Given the description of an element on the screen output the (x, y) to click on. 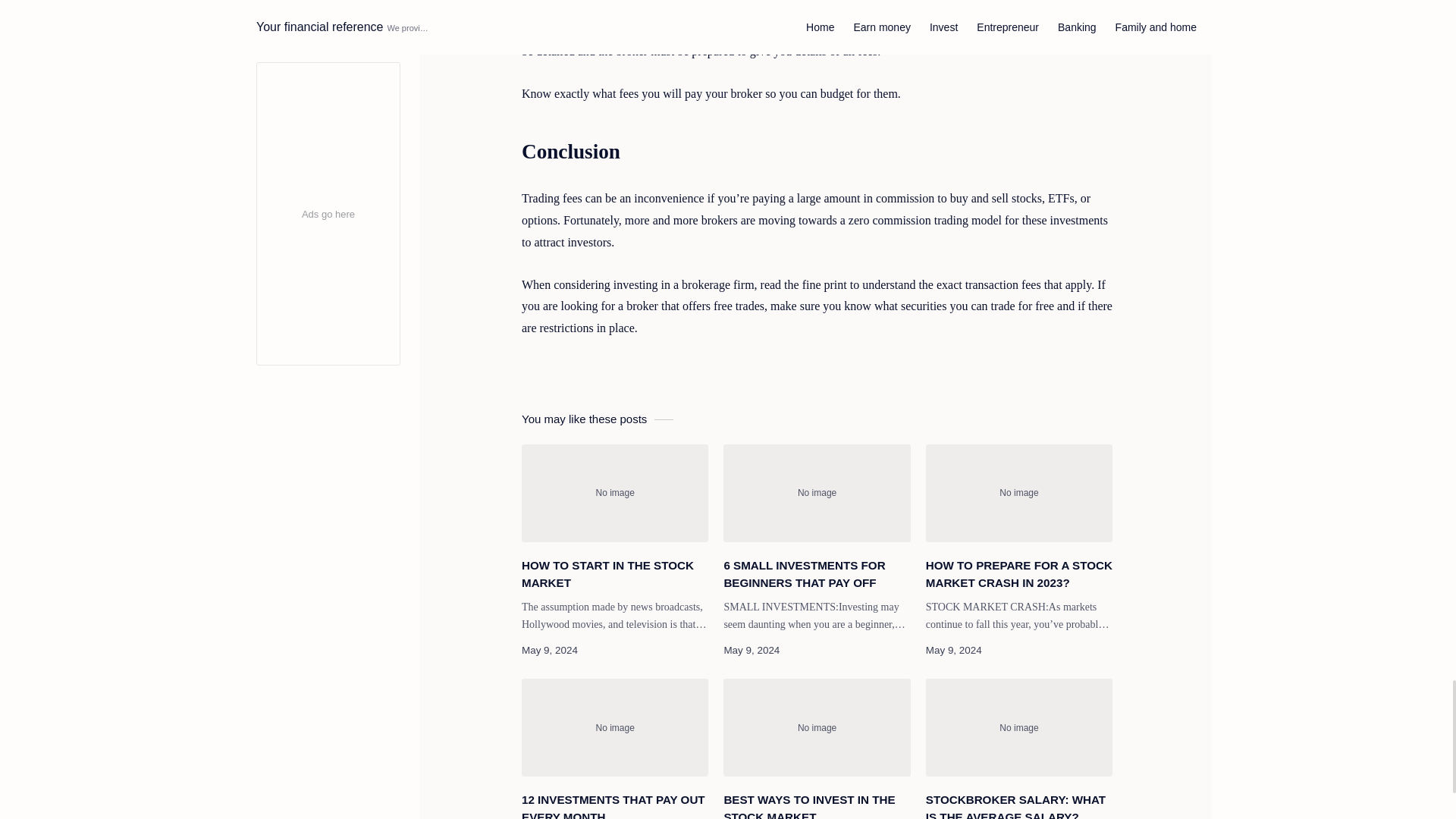
HOW TO PREPARE FOR A STOCK MARKET CRASH IN 2023? (1019, 574)
STOCKBROKER SALARY: WHAT IS THE AVERAGE SALARY? (1019, 727)
12 INVESTMENTS THAT PAY OUT EVERY MONTH (614, 727)
HOW TO START IN THE STOCK MARKET (614, 574)
6 SMALL INVESTMENTS FOR BEGINNERS THAT PAY OFF (816, 493)
HOW TO PREPARE FOR A STOCK MARKET CRASH IN 2023? (1019, 493)
BEST WAYS TO INVEST IN THE STOCK MARKET (816, 805)
6 SMALL INVESTMENTS FOR BEGINNERS THAT PAY OFF (816, 574)
HOW TO START IN THE STOCK MARKET (614, 493)
12 INVESTMENTS THAT PAY OUT EVERY MONTH (614, 805)
